Given the description of an element on the screen output the (x, y) to click on. 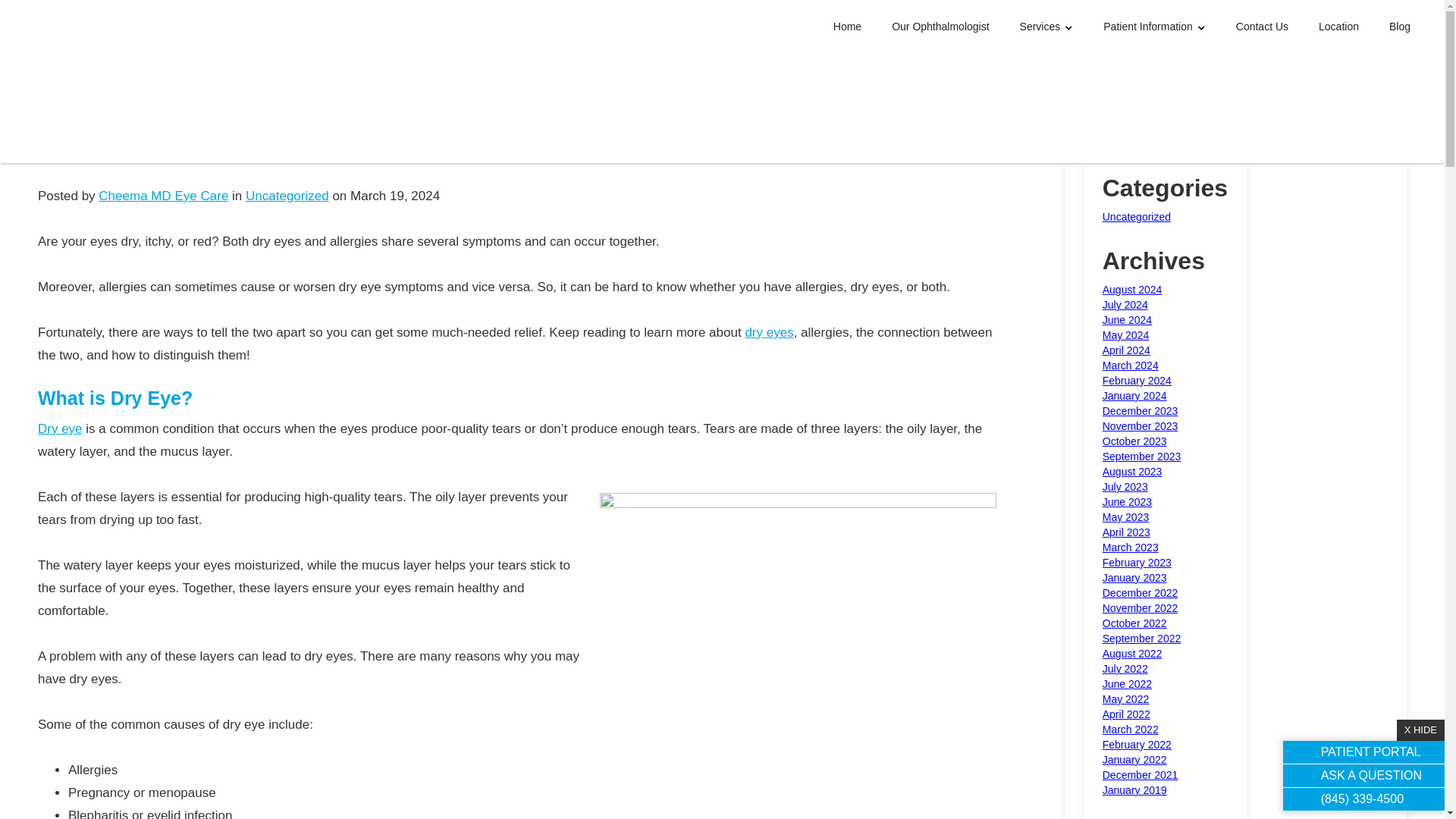
Uncategorized (287, 196)
Services (1046, 27)
Uncategorized (1136, 216)
March 2024 (1130, 365)
Services (1046, 27)
Cheema MD Eye Care (163, 196)
dry eyes (768, 332)
May 2024 (1125, 335)
January 2024 (1134, 395)
Contact Cheema MD Eye Care, PLLC (1262, 26)
